Given the description of an element on the screen output the (x, y) to click on. 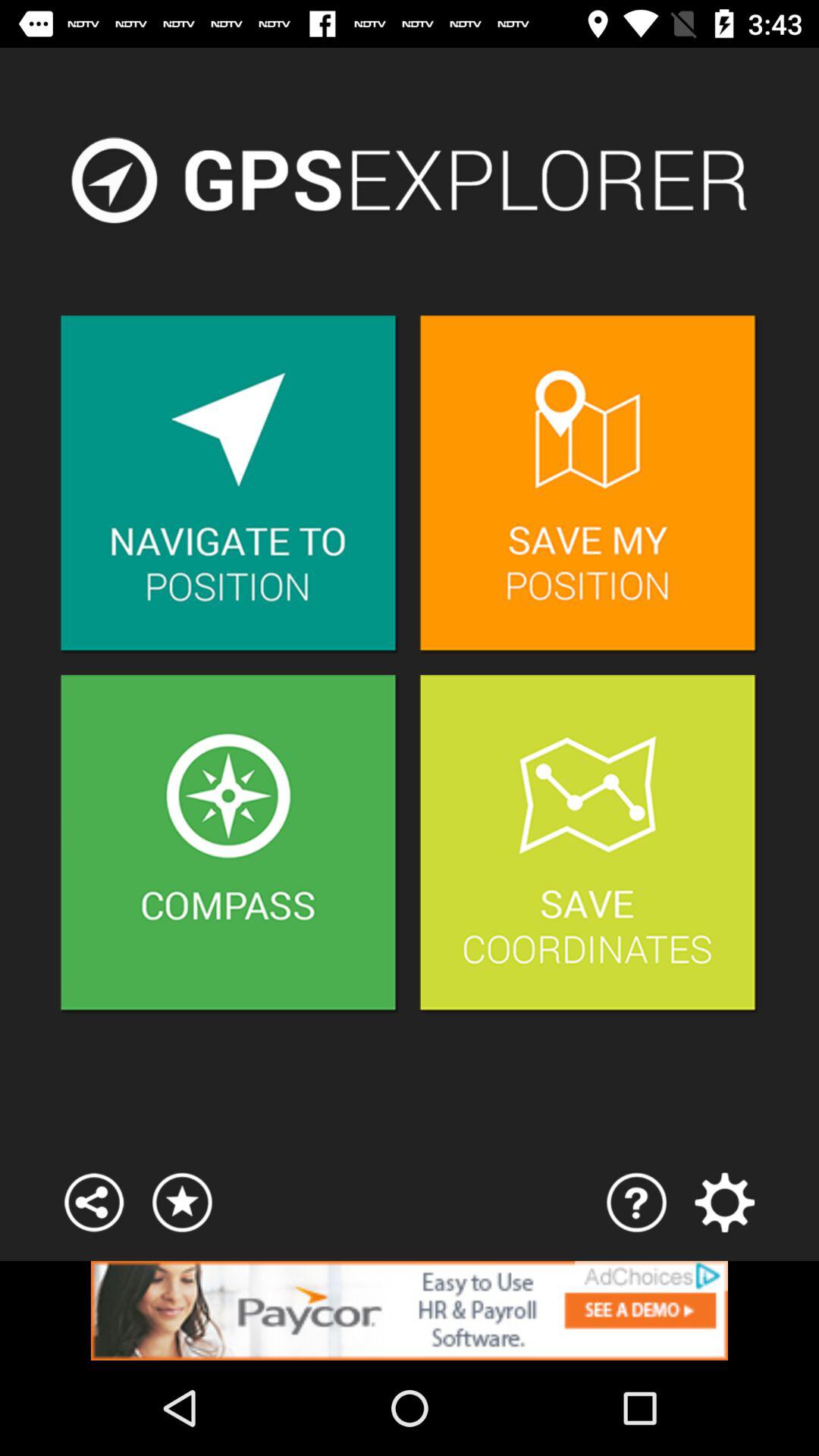
open menu (724, 1202)
